Given the description of an element on the screen output the (x, y) to click on. 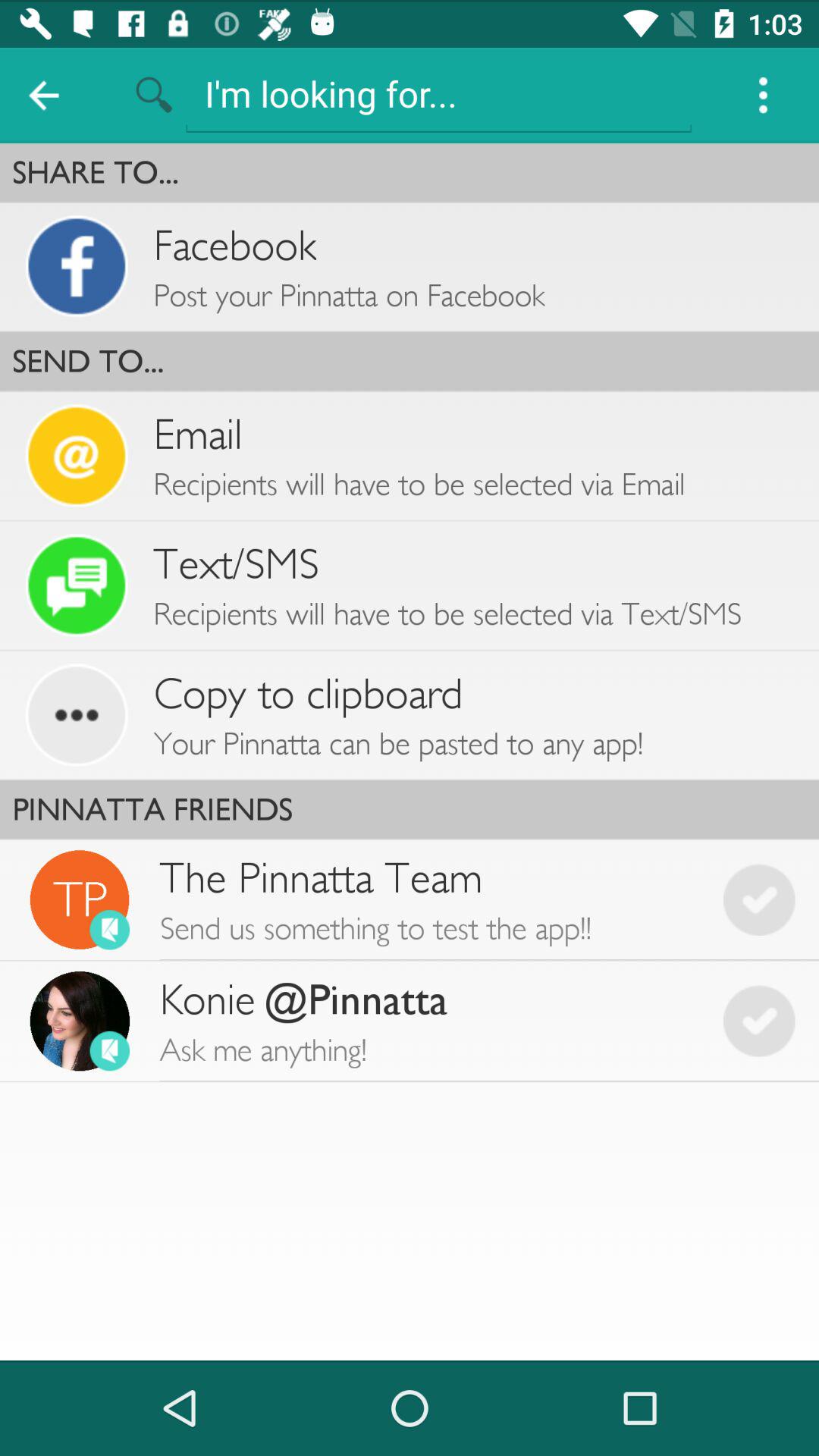
turn off the the pinnatta team icon (429, 899)
